Given the description of an element on the screen output the (x, y) to click on. 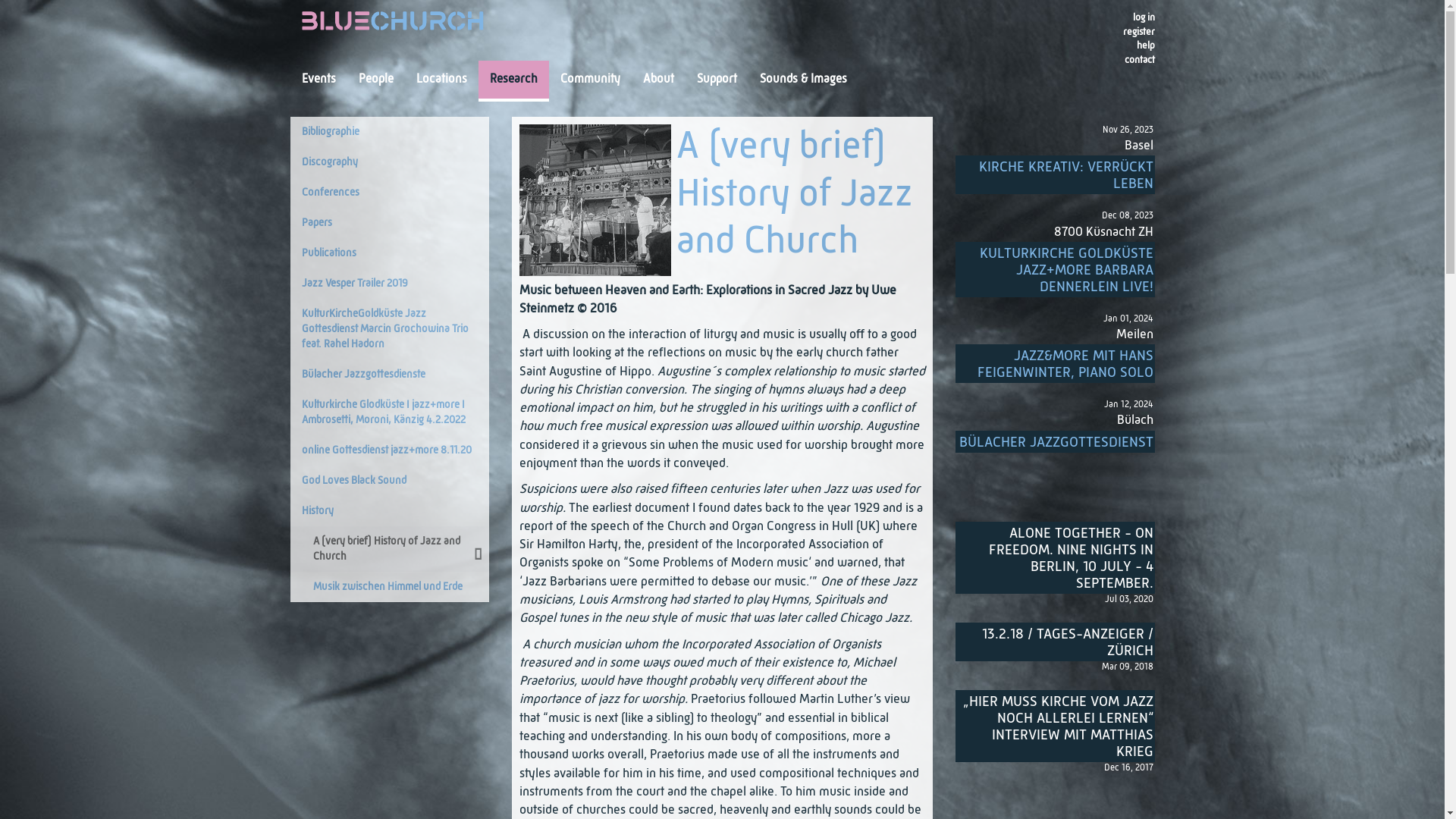
Discography Element type: text (389, 162)
Blue Church Element type: hover (392, 24)
About Element type: text (657, 79)
Papers Element type: text (389, 222)
contact Element type: text (1135, 60)
online Gottesdienst jazz+more 8.11.20 Element type: text (389, 450)
History Element type: text (389, 510)
God Loves Black Sound Element type: text (389, 480)
Bibliographie Element type: text (389, 131)
Research Element type: text (512, 79)
register Element type: text (1134, 32)
JAZZ&MORE MIT HANS FEIGENWINTER, PIANO SOLO Element type: text (1054, 363)
Community Element type: text (590, 79)
Publications Element type: text (389, 253)
Support Element type: text (716, 79)
Events Element type: text (317, 79)
Navigation Element type: text (330, 134)
A (very brief) History of Jazz and Church Element type: hover (595, 200)
log in Element type: text (1139, 17)
A (very brief) History of Jazz and Church Element type: text (389, 548)
Musik zwischen Himmel und Erde Element type: text (389, 586)
Locations Element type: text (441, 79)
Conferences Element type: text (389, 192)
Jazz Vesper Trailer 2019 Element type: text (389, 283)
help Element type: text (1141, 45)
Sounds & Images Element type: text (802, 79)
People Element type: text (375, 79)
